Given the description of an element on the screen output the (x, y) to click on. 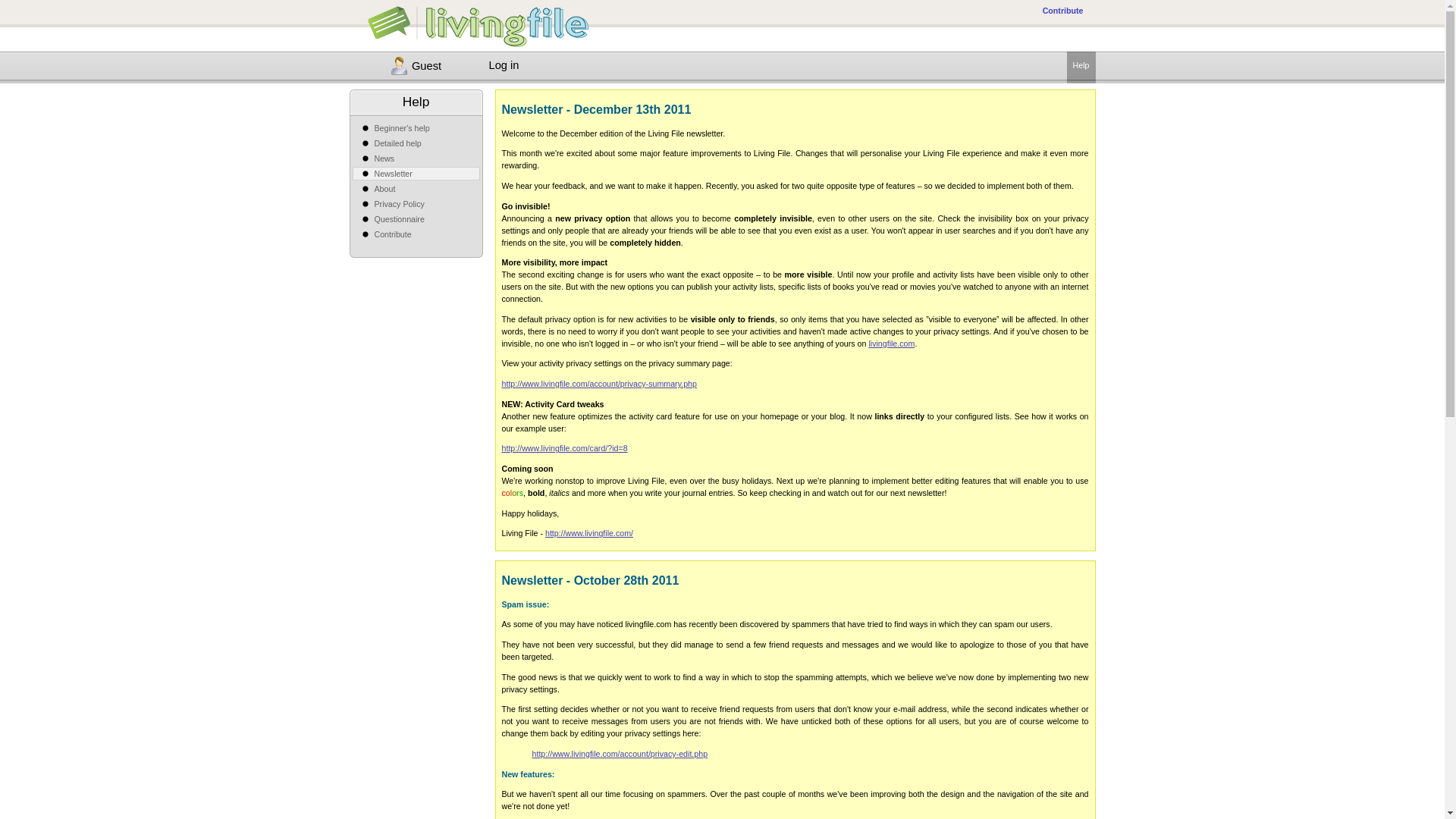
Contribute (393, 234)
About (385, 188)
Newsletter (393, 173)
livingfile.com (890, 343)
Beginner's help (401, 127)
Help (1081, 64)
Log in to Living File (502, 64)
Guest (426, 65)
Do you need help? (1081, 64)
News (384, 157)
